Given the description of an element on the screen output the (x, y) to click on. 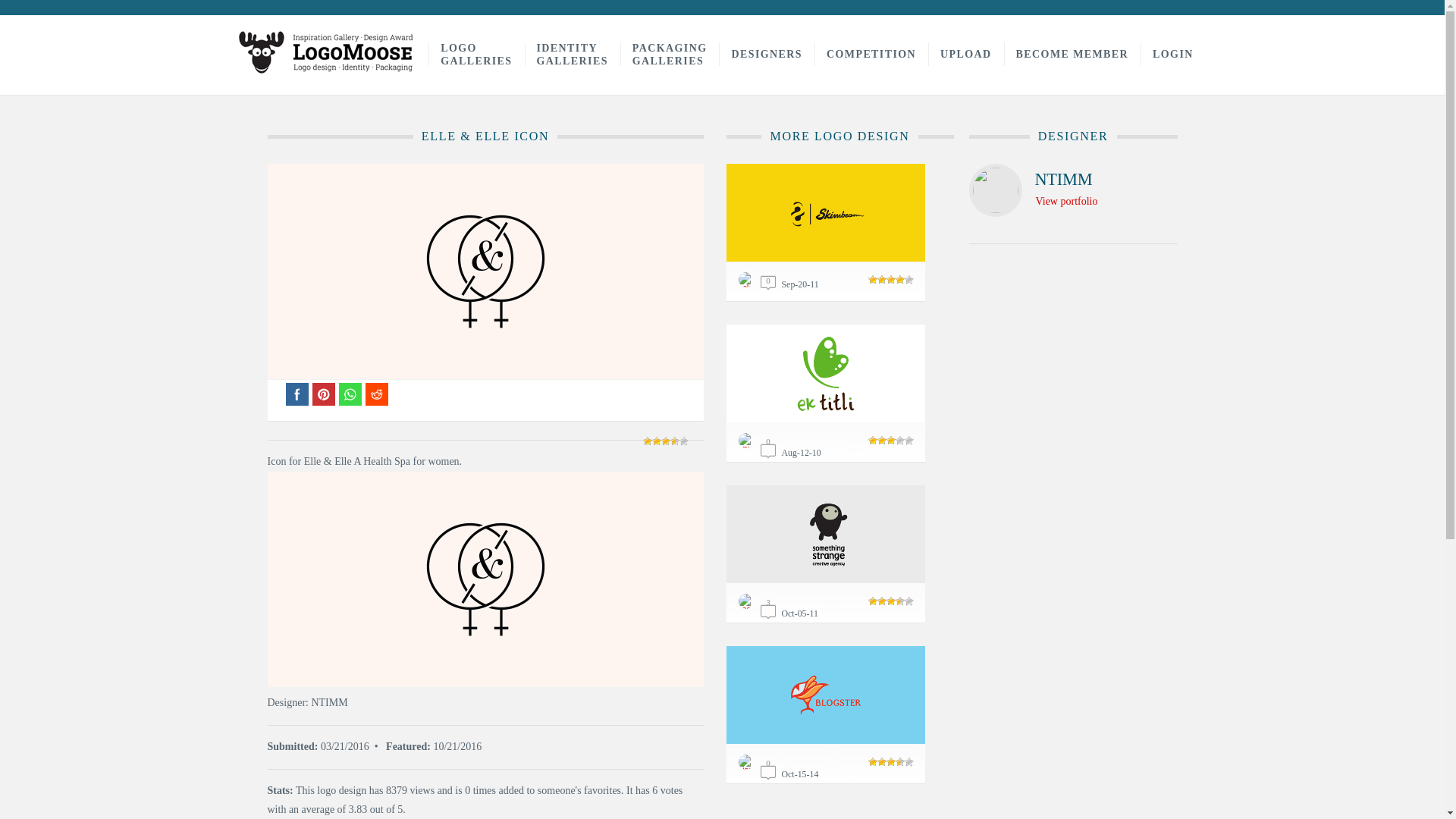
LogoMoose Competition (870, 55)
Upload (966, 55)
DESIGNERS (572, 55)
Logo Designers (766, 55)
View portfolio (766, 55)
Logo Galleries (669, 55)
Identity Galleries (1066, 201)
